Given the description of an element on the screen output the (x, y) to click on. 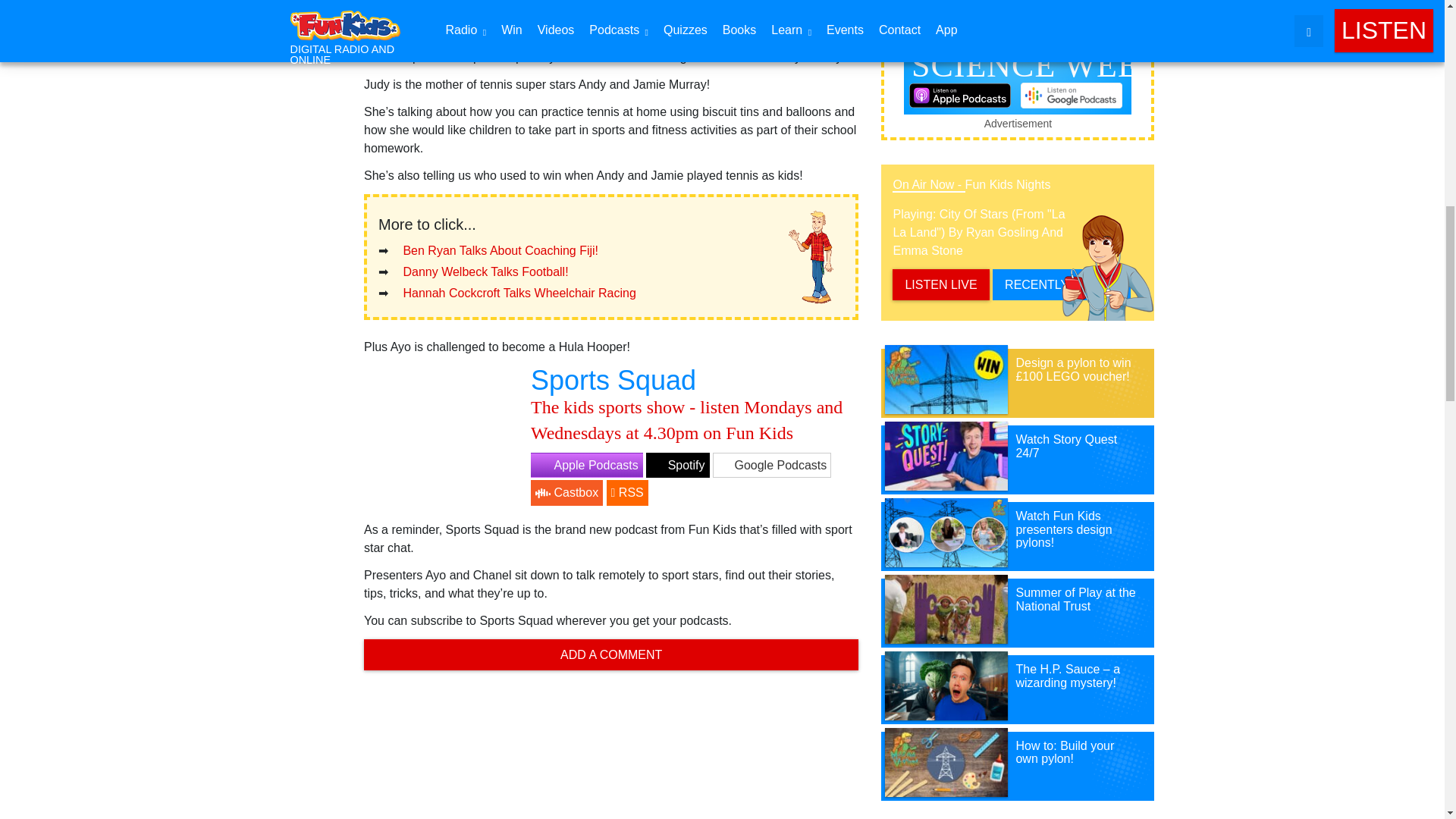
ADD A COMMENT (611, 654)
